Given the description of an element on the screen output the (x, y) to click on. 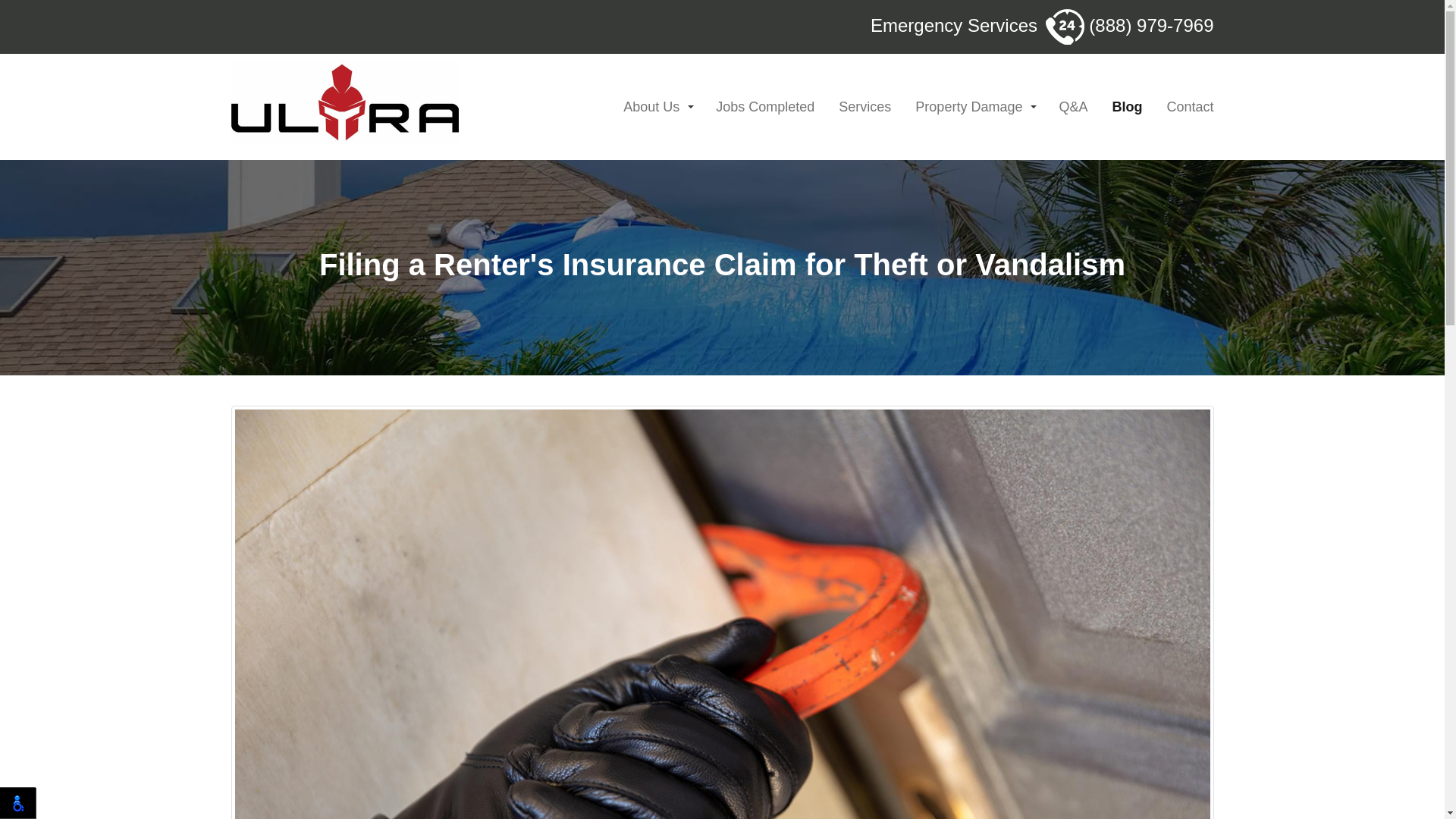
Contact (1186, 106)
Services (864, 106)
About Us (657, 106)
Jobs Completed (765, 106)
Jobs Completed (765, 106)
Property Damage (974, 106)
Contact (1186, 106)
Services (864, 106)
Property Damage (974, 106)
About Us (657, 106)
Blog (1126, 106)
Blog (1126, 106)
